Given the description of an element on the screen output the (x, y) to click on. 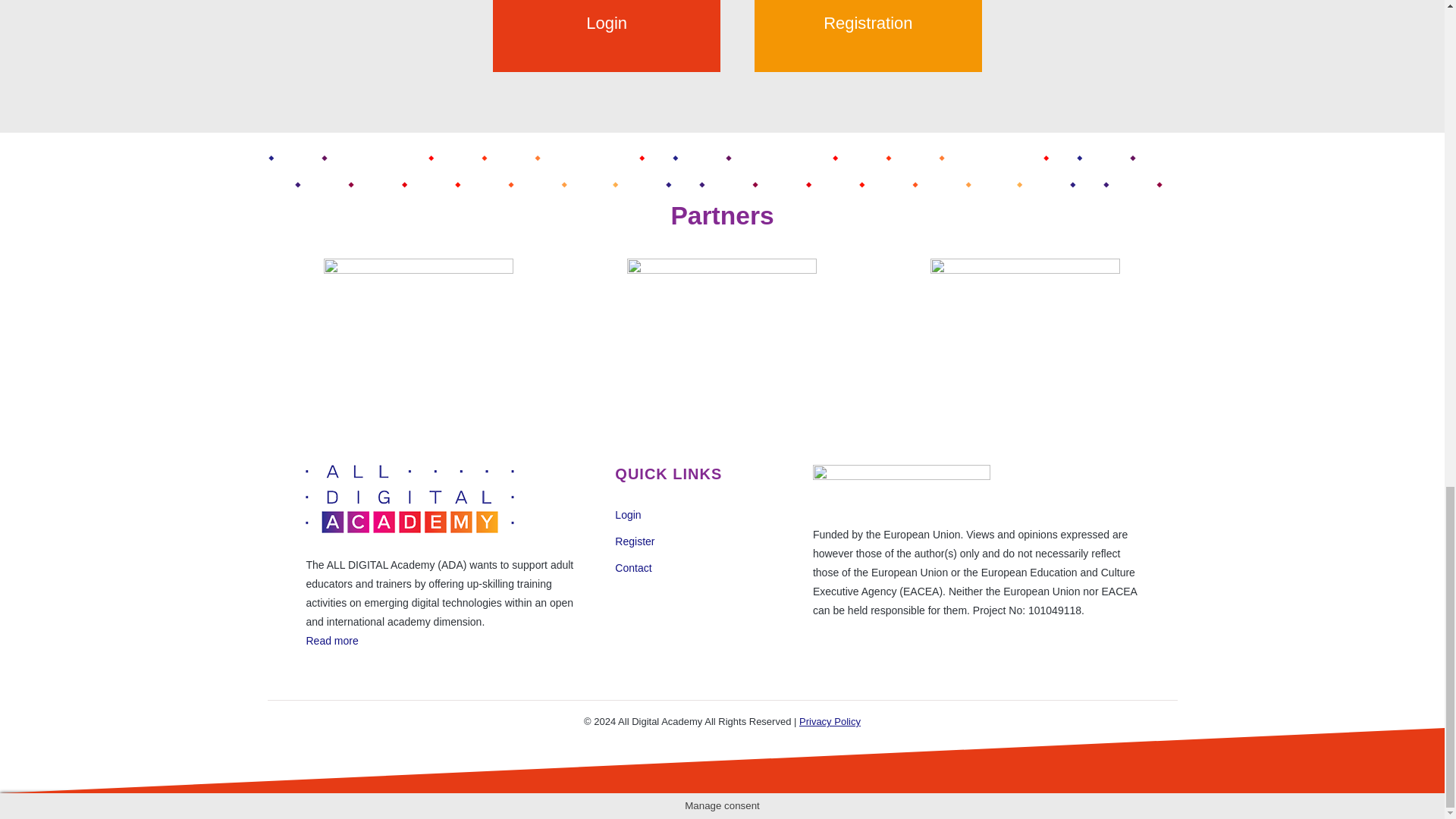
Register (633, 541)
Login (627, 513)
Contact (632, 567)
Login (590, 36)
Read more (331, 640)
Privacy Policy (829, 721)
Registration (852, 36)
